Given the description of an element on the screen output the (x, y) to click on. 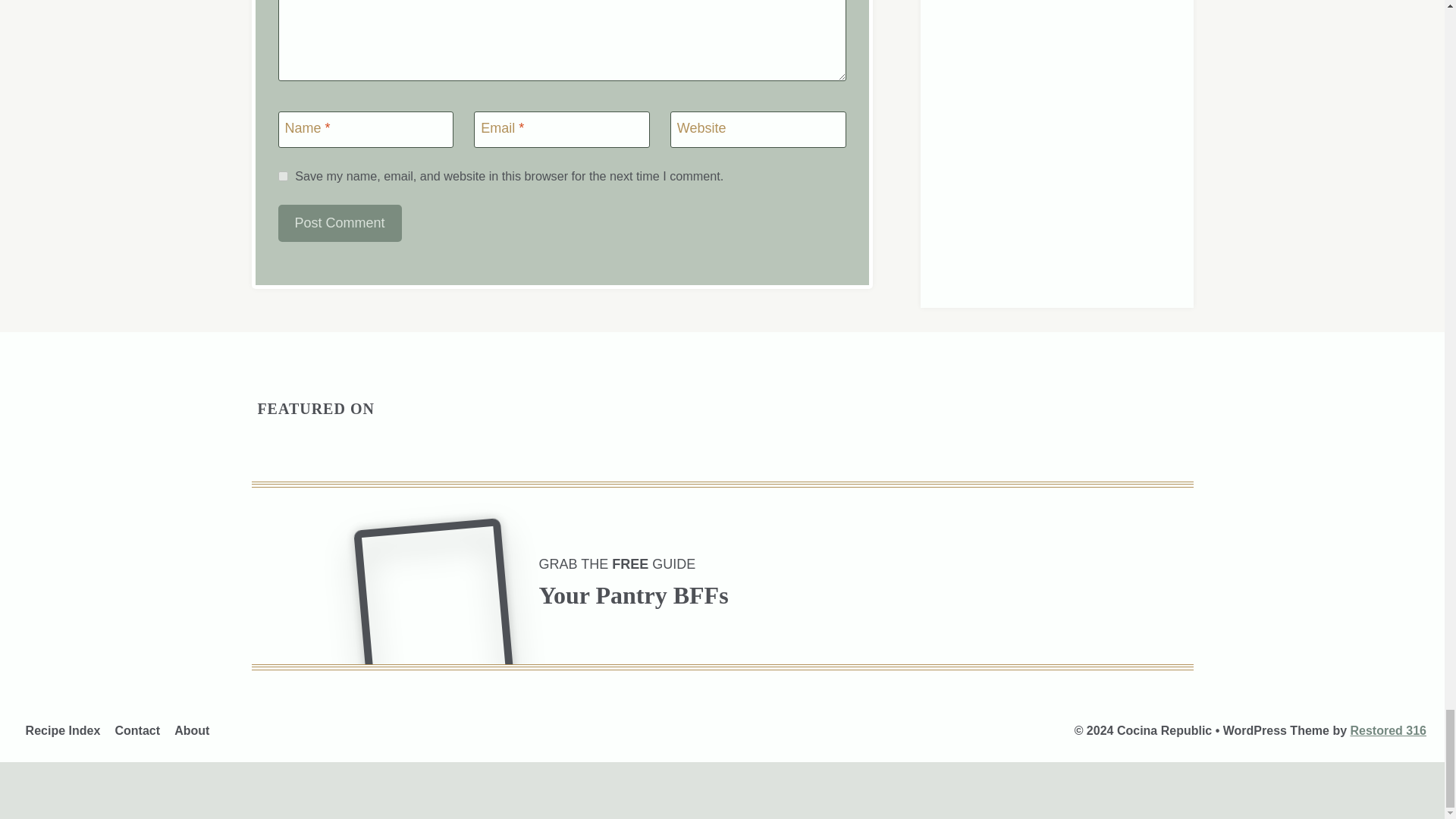
Post Comment (339, 222)
yes (282, 175)
